Given the description of an element on the screen output the (x, y) to click on. 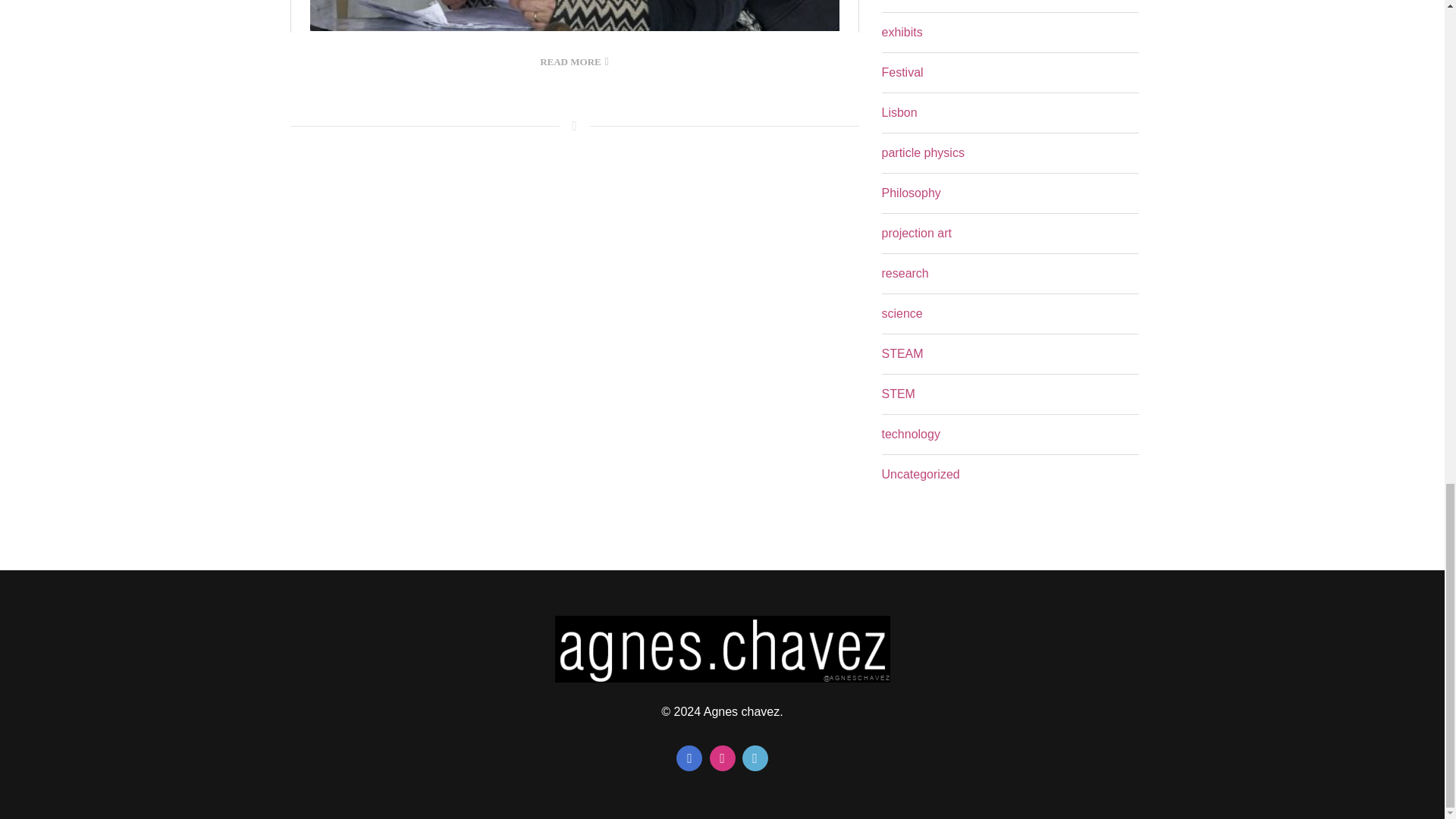
READ MORE (574, 61)
